Given the description of an element on the screen output the (x, y) to click on. 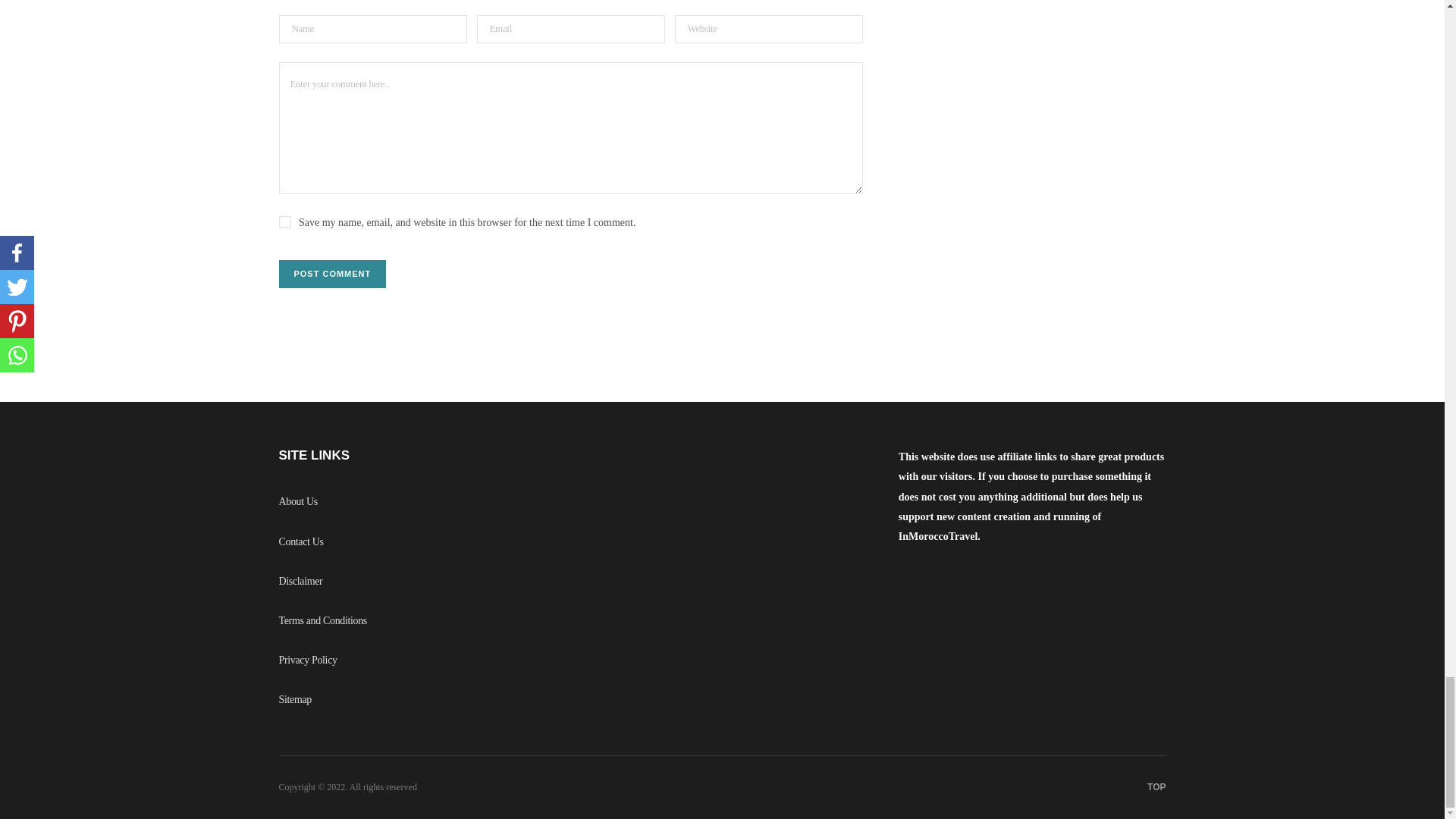
Post Comment (333, 274)
yes (285, 222)
